Given the description of an element on the screen output the (x, y) to click on. 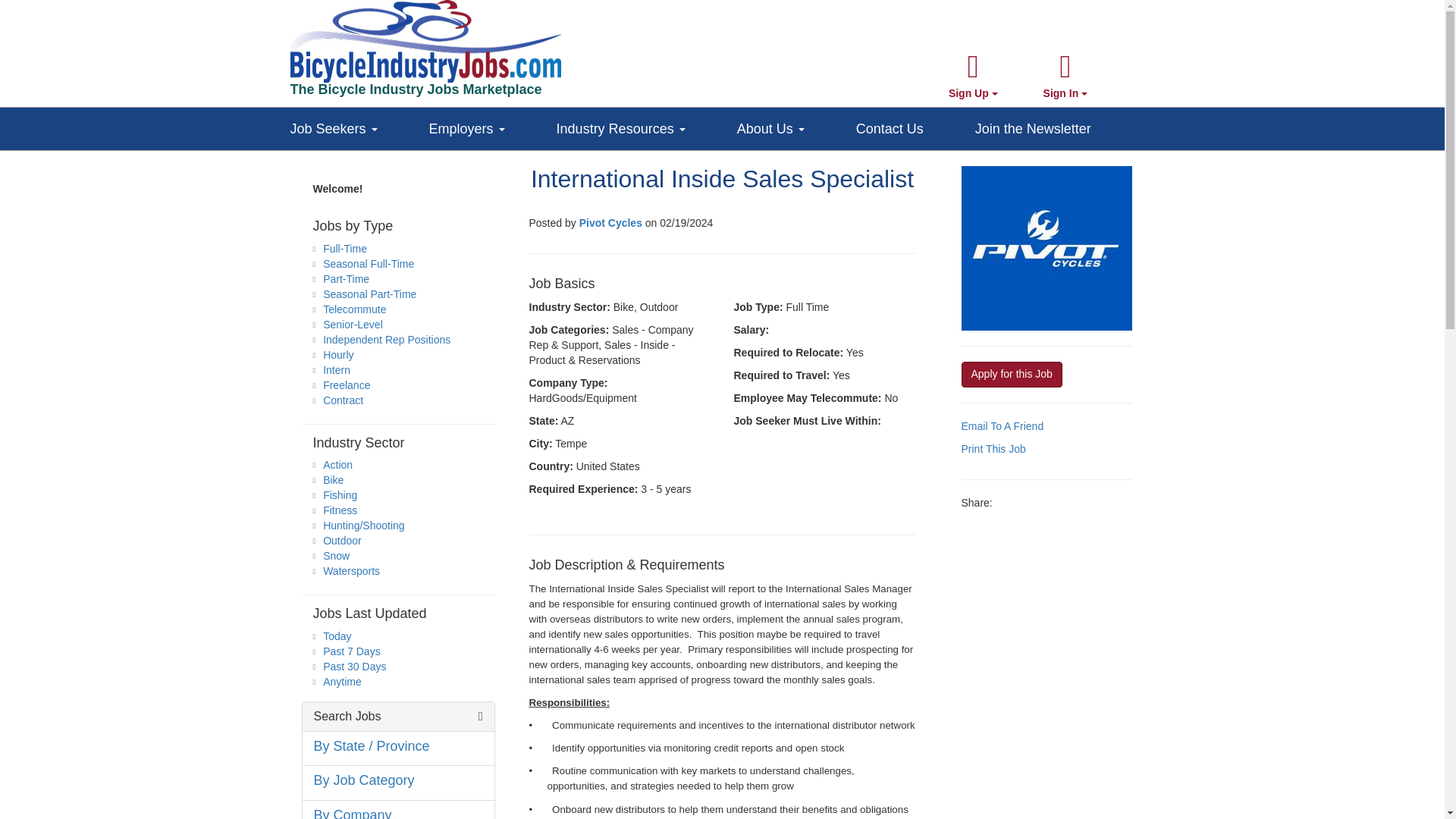
Sign Up (973, 76)
Industry Resources (646, 124)
Job Seekers (358, 124)
Employers (492, 124)
Sign In (1065, 76)
